Given the description of an element on the screen output the (x, y) to click on. 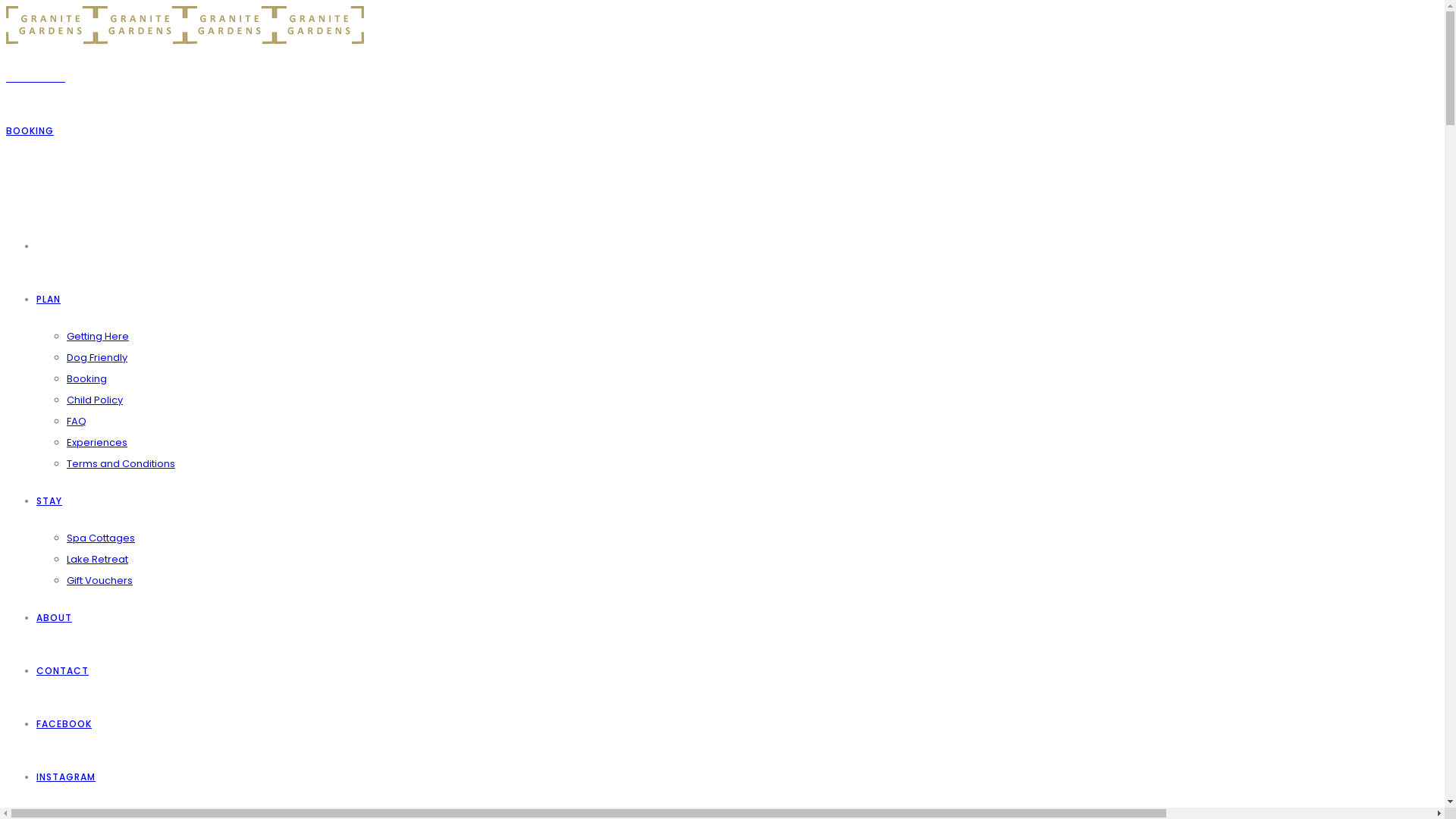
BOOKING Element type: text (29, 130)
FACEBOOK Element type: text (63, 723)
CONTACT Element type: text (62, 670)
Experiences Element type: text (96, 442)
Gift Vouchers Element type: text (99, 580)
Lake Retreat Element type: text (97, 559)
Getting Here Element type: text (97, 336)
Spa Cottages Element type: text (100, 537)
INSTAGRAM Element type: text (65, 776)
ABOUT Element type: text (54, 617)
Booking Element type: text (86, 378)
FAQ Element type: text (76, 421)
Child Policy Element type: text (94, 399)
HOT DEALS! Element type: text (35, 77)
STAY Element type: text (49, 500)
Dog Friendly Element type: text (96, 357)
Terms and Conditions Element type: text (120, 463)
PLAN Element type: text (48, 298)
